Given the description of an element on the screen output the (x, y) to click on. 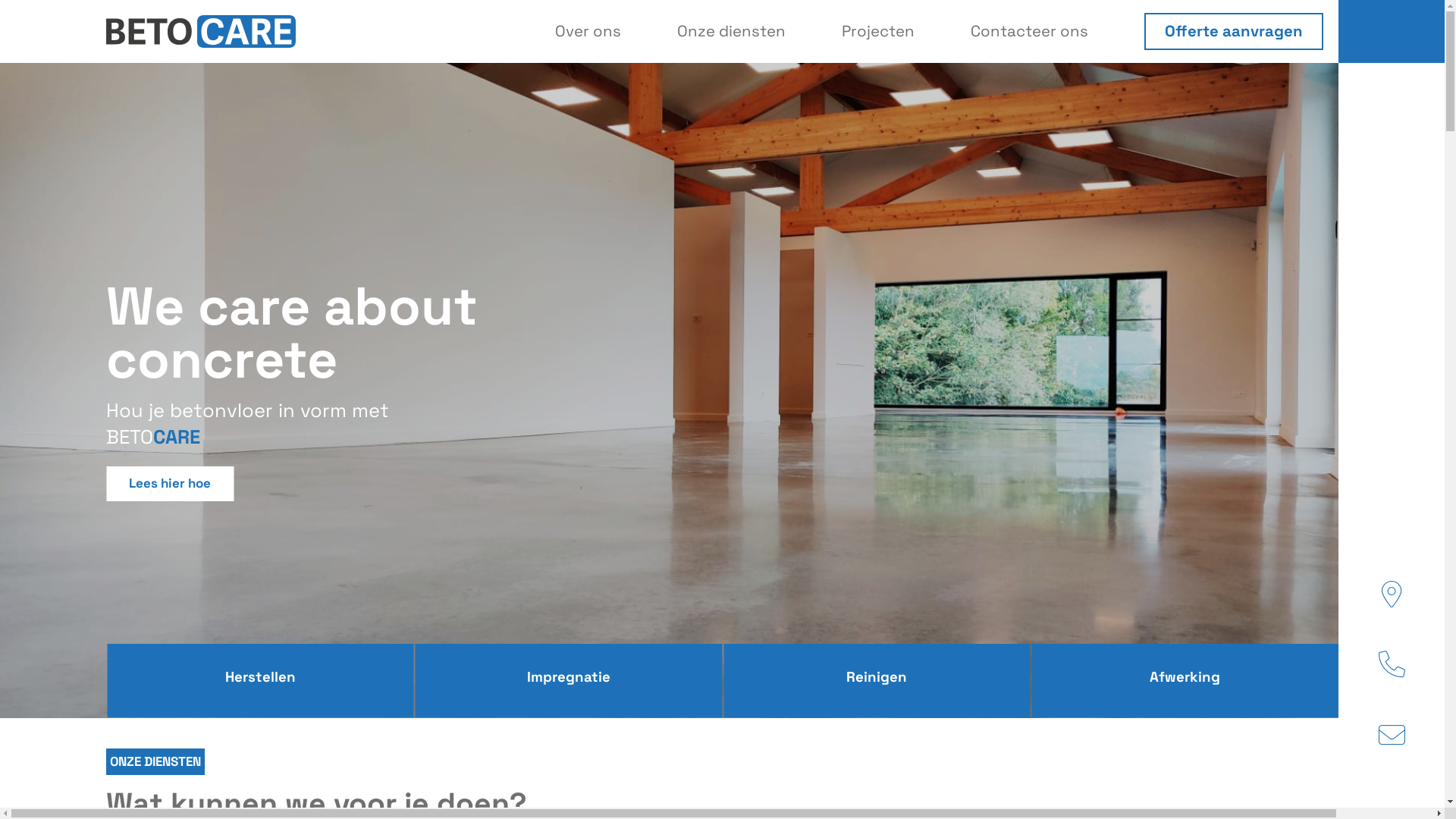
Projecten Element type: text (877, 30)
Offerte aanvragen Element type: text (1233, 31)
Contacteer ons Element type: text (1029, 30)
Lees hier hoe Element type: text (169, 483)
Onze diensten Element type: text (731, 30)
Over ons Element type: text (588, 30)
